Given the description of an element on the screen output the (x, y) to click on. 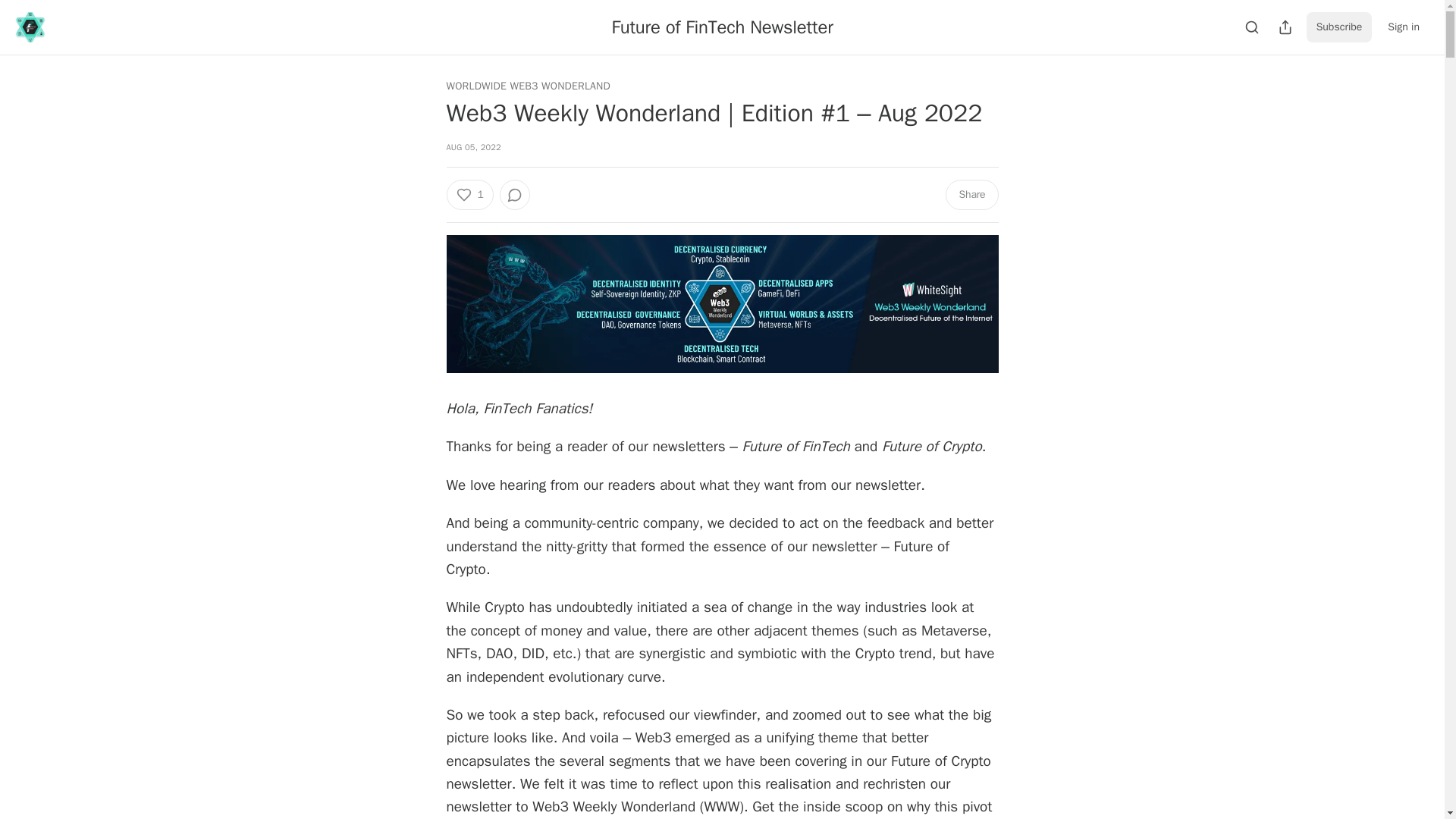
1 (469, 194)
Share (970, 194)
WORLDWIDE WEB3 WONDERLAND (527, 86)
Sign in (1403, 27)
Future of FinTech Newsletter (721, 26)
Subscribe (1339, 27)
